Given the description of an element on the screen output the (x, y) to click on. 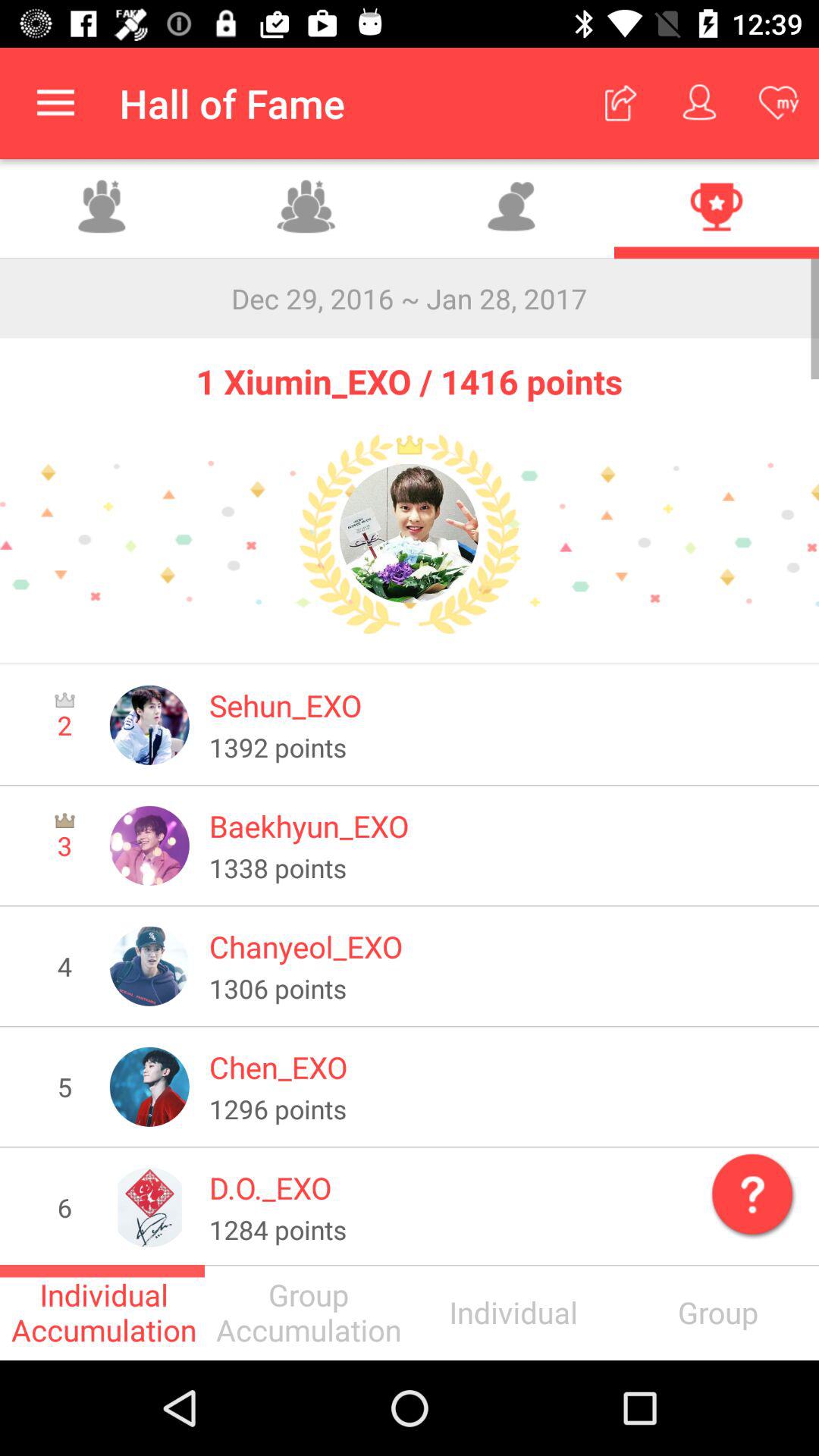
press the icon below the 1296 points icon (749, 1191)
